Given the description of an element on the screen output the (x, y) to click on. 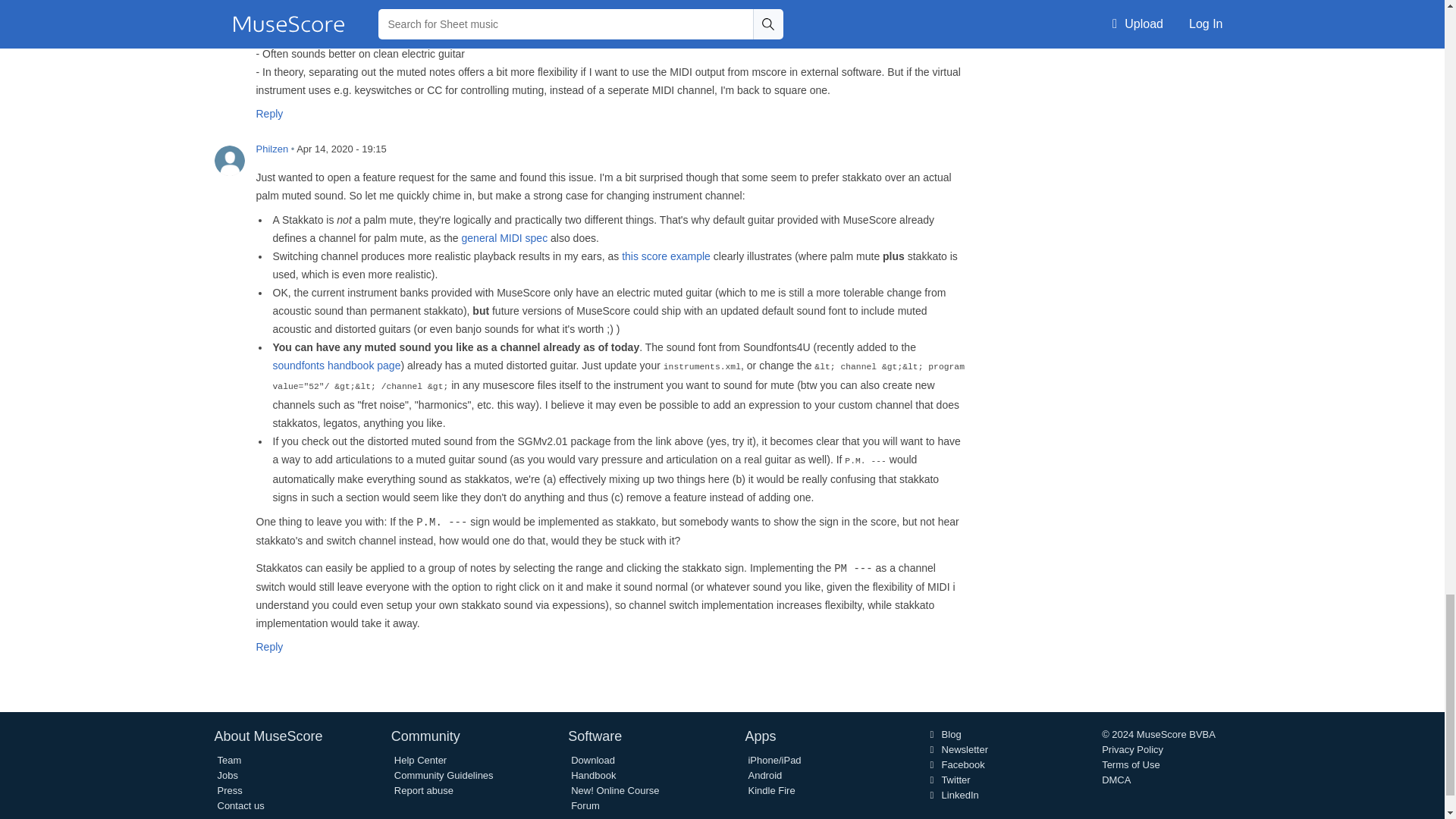
Philzen (229, 160)
